Given the description of an element on the screen output the (x, y) to click on. 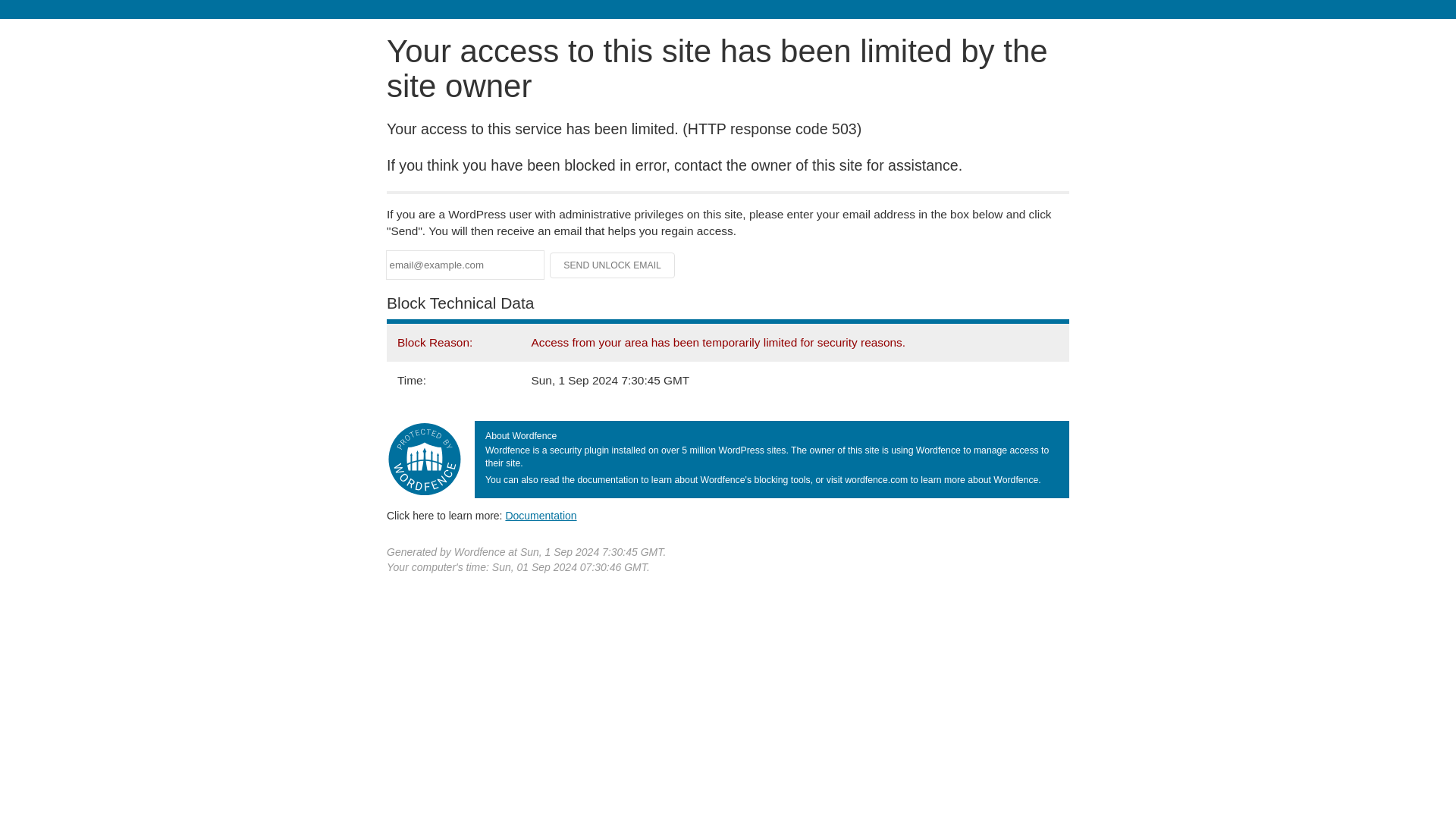
Documentation (540, 515)
Send Unlock Email (612, 265)
Send Unlock Email (612, 265)
